Given the description of an element on the screen output the (x, y) to click on. 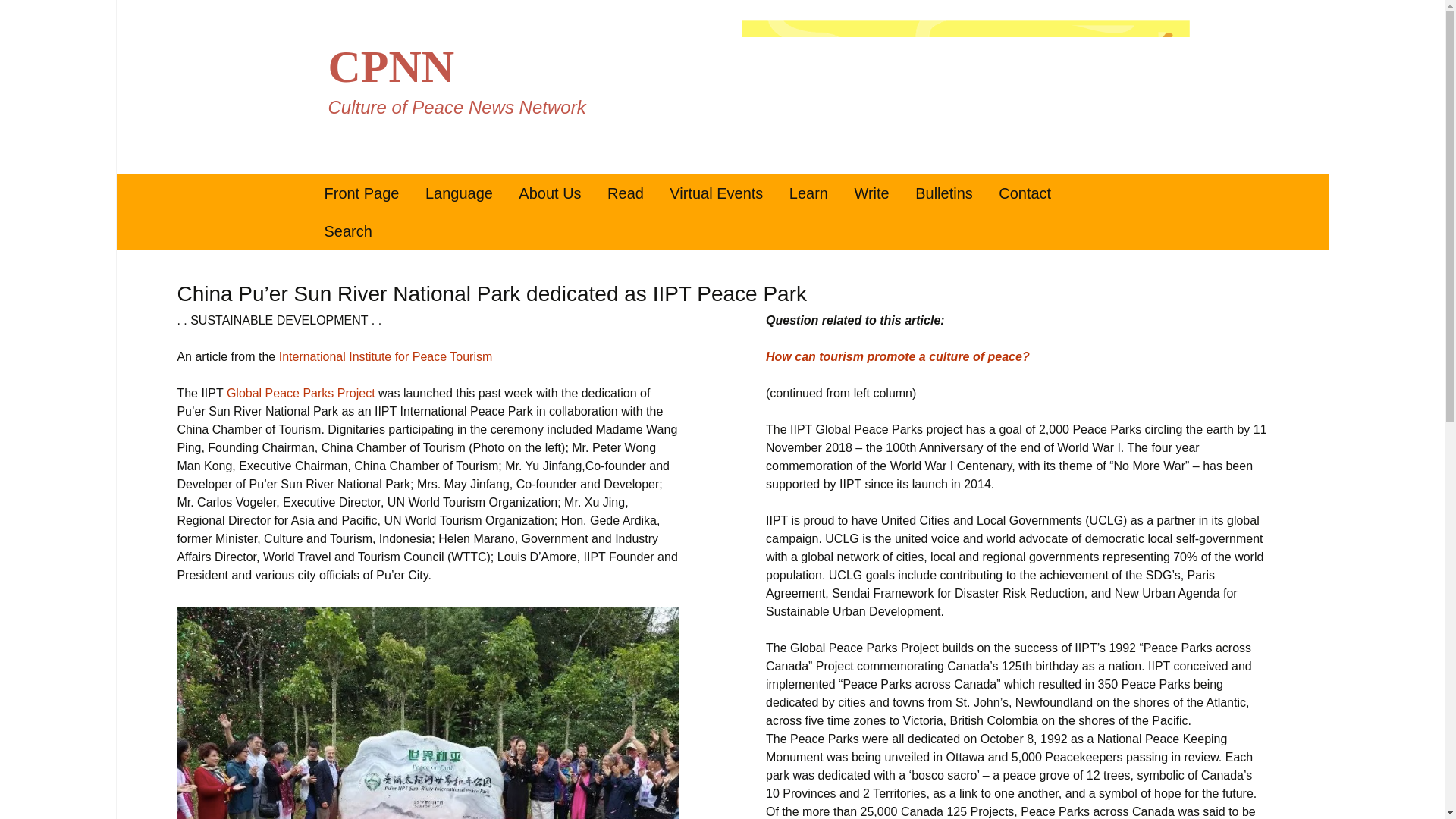
Language (458, 193)
Learn (808, 193)
How can tourism promote a culture of peace? (897, 356)
French (489, 231)
Virtual Events (716, 193)
Search (347, 231)
Search (18, 15)
Bulletins (944, 193)
